Given the description of an element on the screen output the (x, y) to click on. 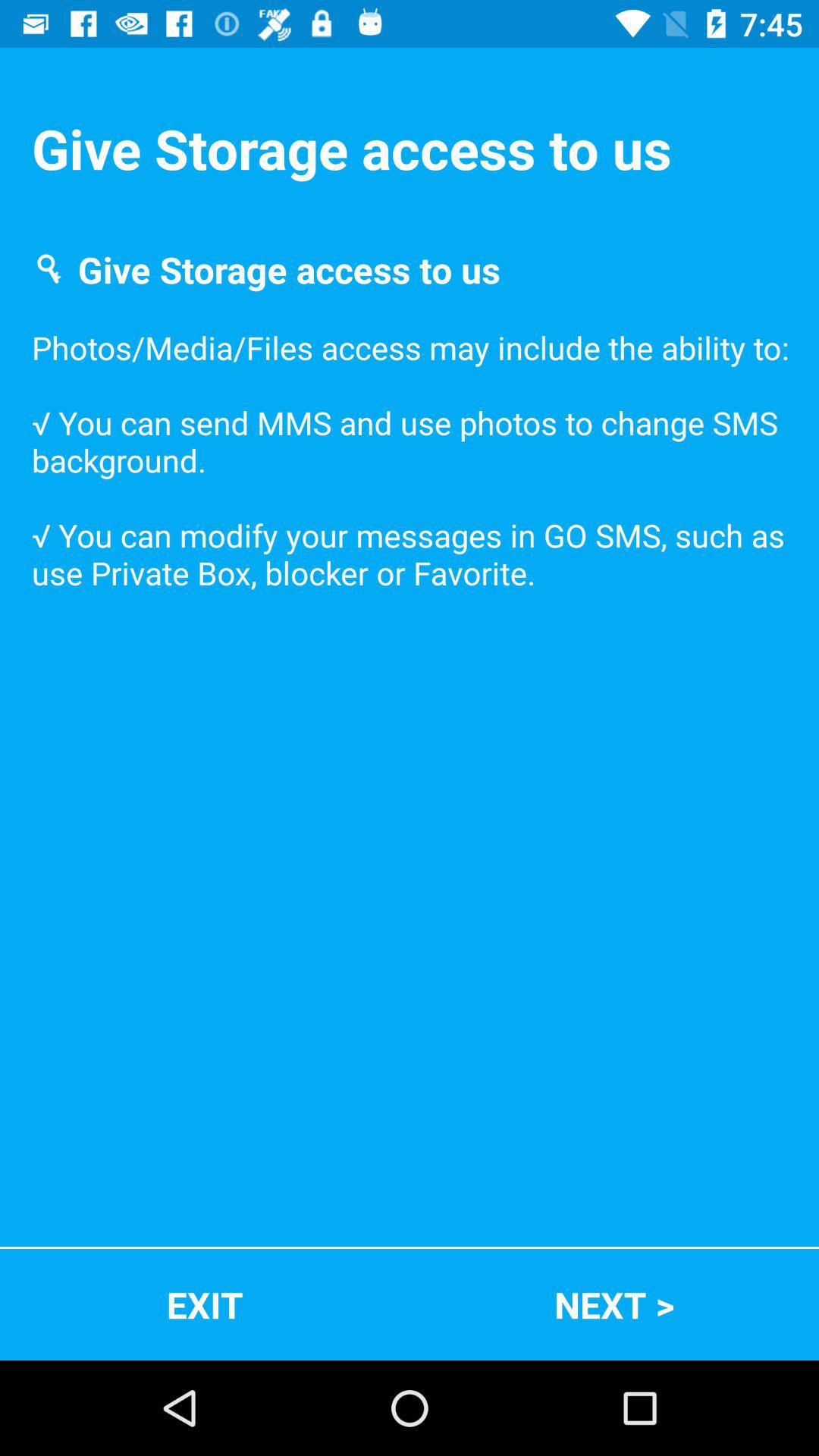
open next > (614, 1304)
